Given the description of an element on the screen output the (x, y) to click on. 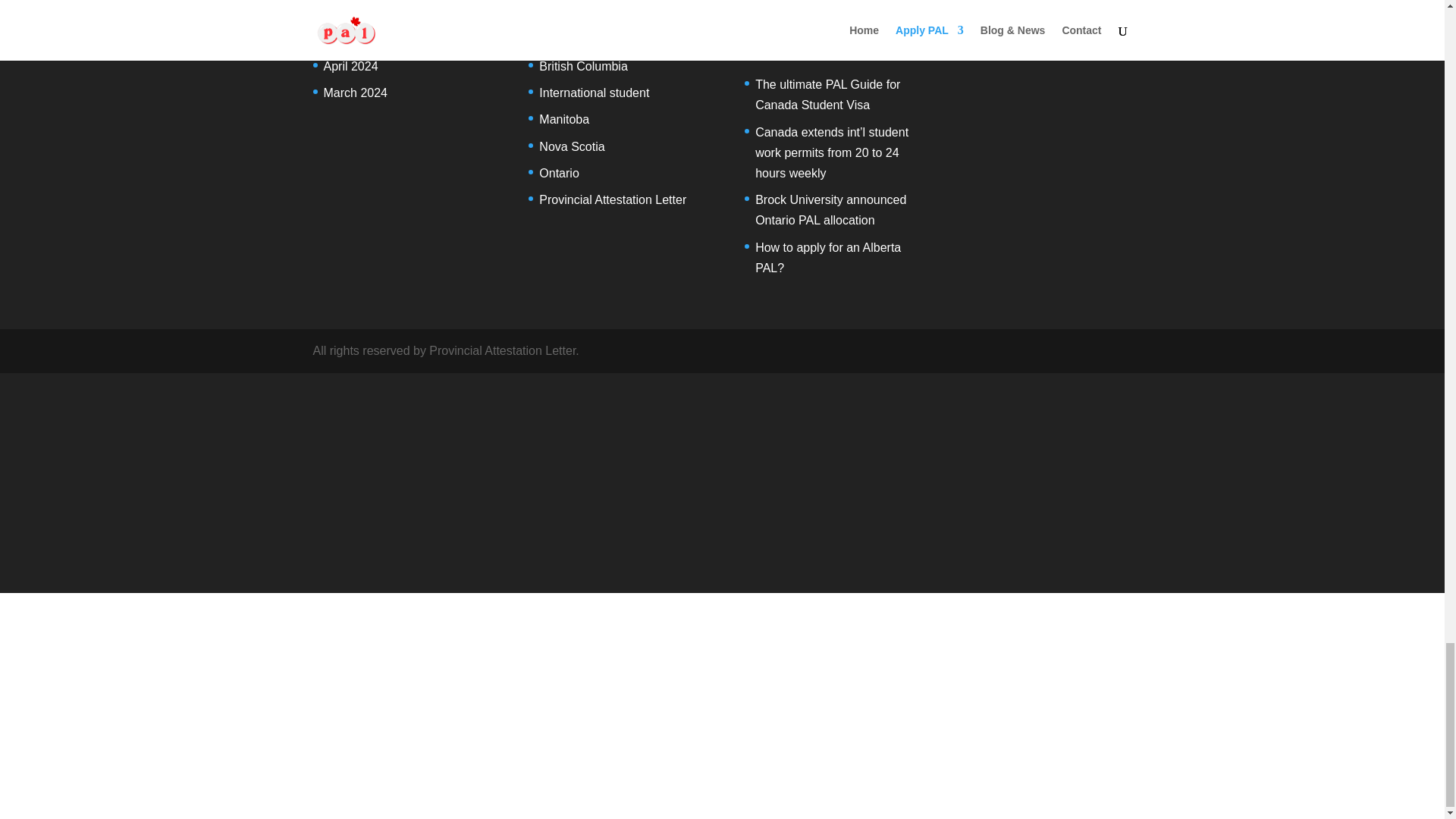
Nova Scotia (571, 146)
Alberta (558, 39)
Manitoba (563, 119)
Brock University announced Ontario PAL allocation (830, 209)
International student (593, 92)
British Columbia (582, 65)
May 2024 (349, 39)
The ultimate PAL Guide for Canada Student Visa (827, 94)
Provincial Attestation Letter (611, 199)
How to apply for an Alberta PAL? (828, 257)
Ontario (558, 173)
March 2024 (355, 92)
April 2024 (350, 65)
